Given the description of an element on the screen output the (x, y) to click on. 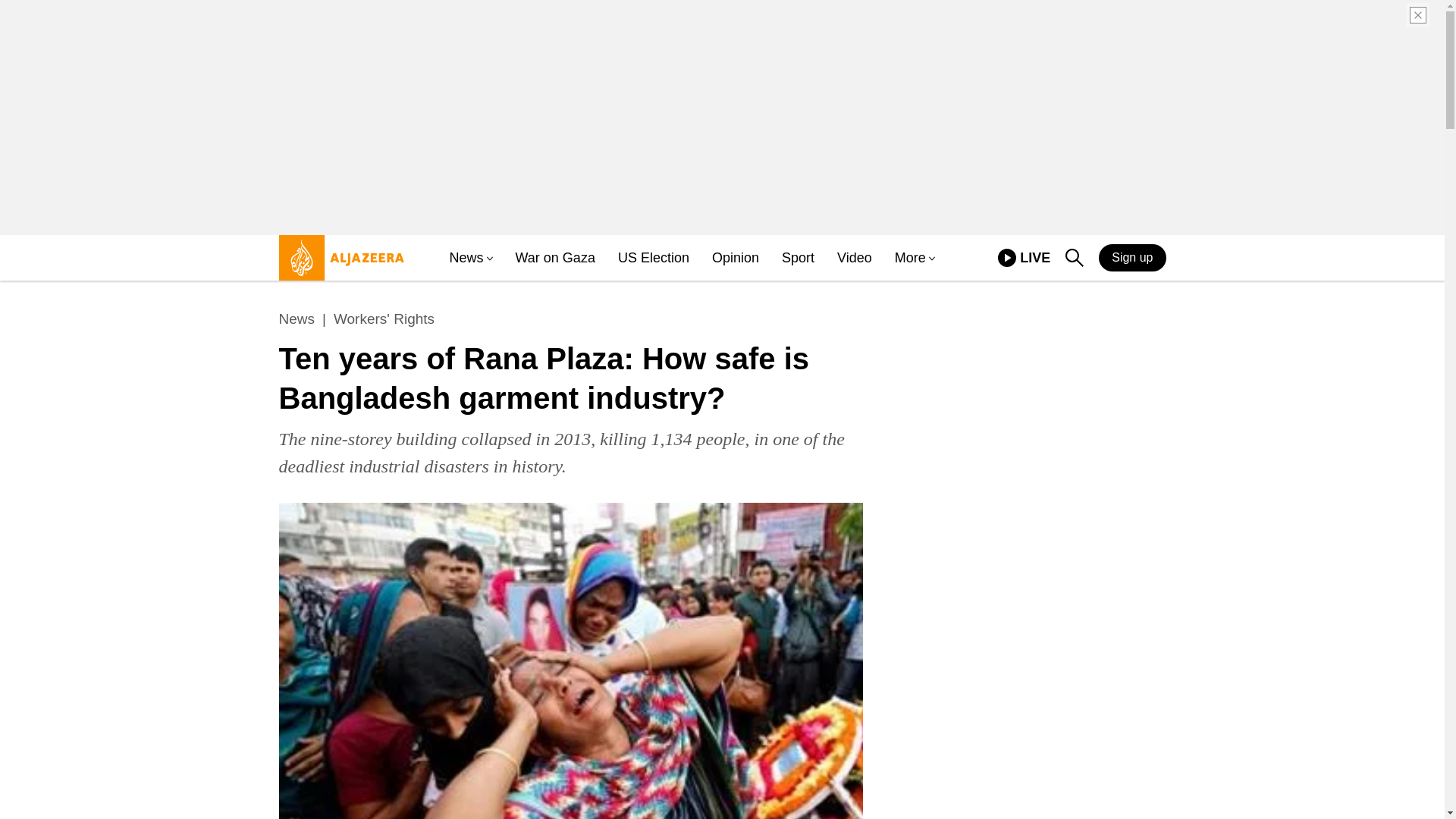
More (910, 257)
Sign up (1132, 257)
Sport (797, 257)
Opinion (734, 257)
play (1006, 257)
News (1023, 257)
search (297, 319)
US Election (1074, 257)
News (652, 257)
